Given the description of an element on the screen output the (x, y) to click on. 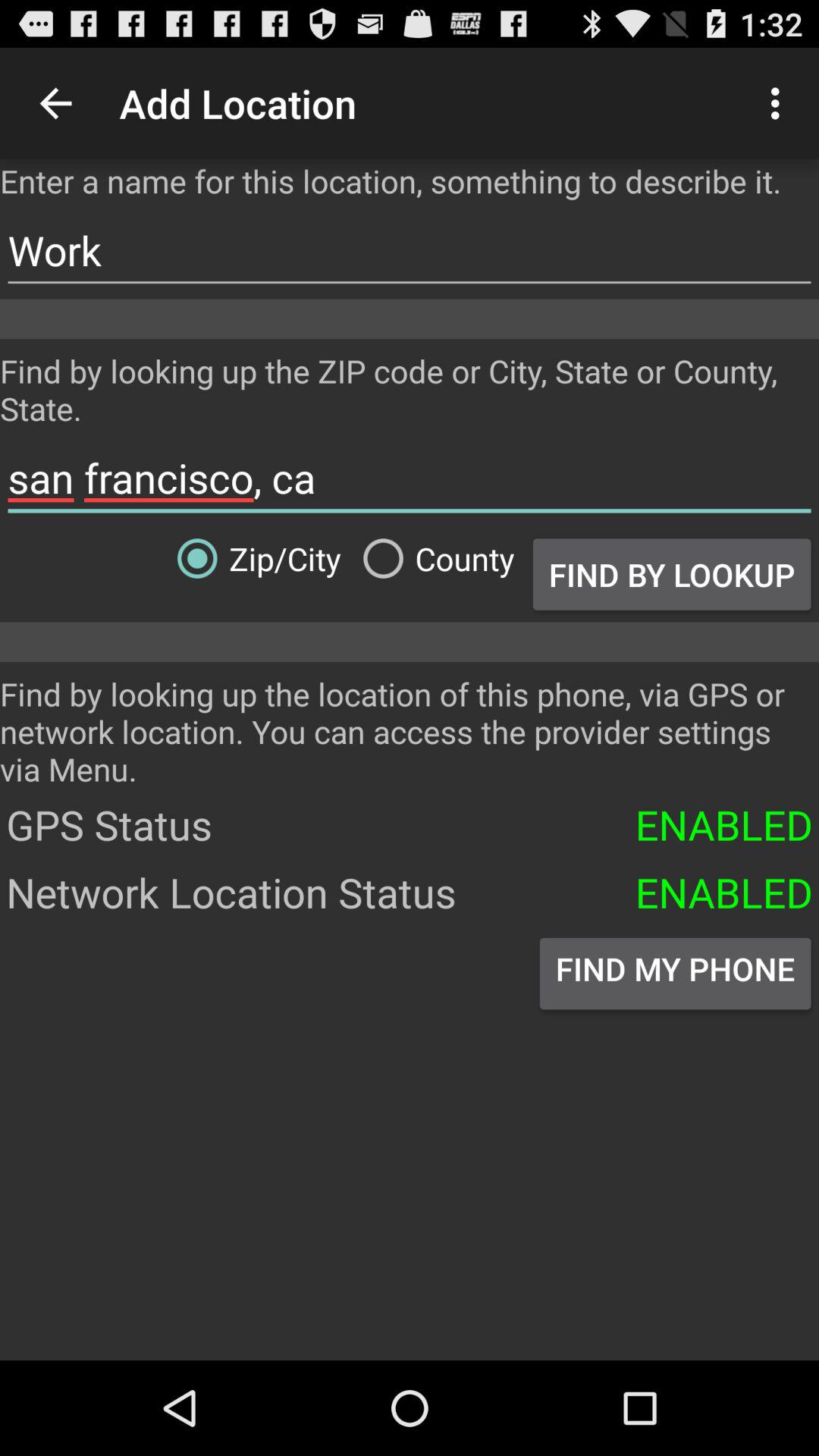
press the item next to add location (55, 103)
